Given the description of an element on the screen output the (x, y) to click on. 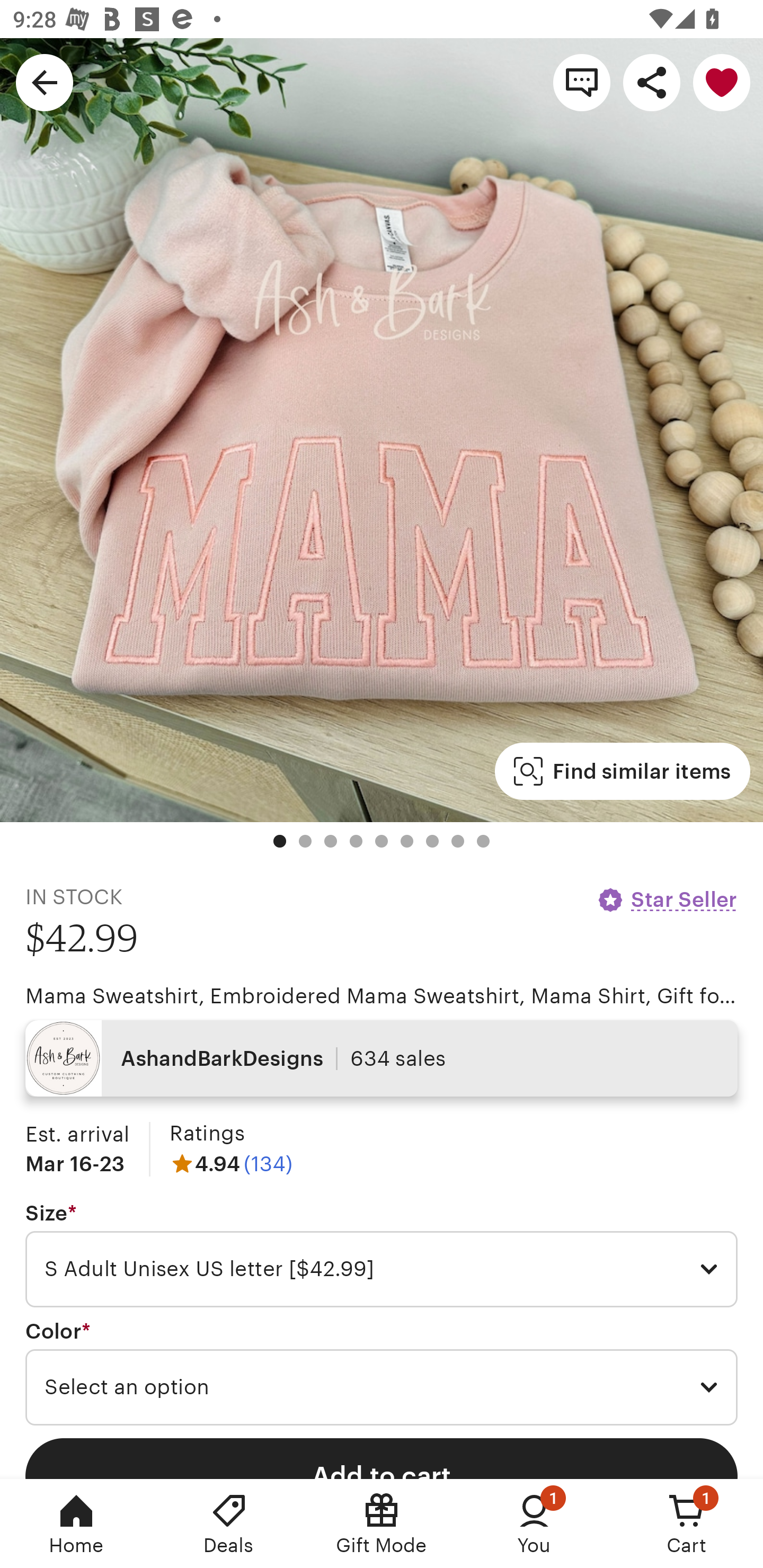
Navigate up (44, 81)
Contact shop (581, 81)
Share (651, 81)
Find similar items (622, 771)
Star Seller (666, 899)
AshandBarkDesigns 634 sales (381, 1058)
Ratings (206, 1133)
4.94 (134) (230, 1163)
Size * Required S Adult Unisex US letter [$42.99] (381, 1254)
S Adult Unisex US letter [$42.99] (381, 1268)
Color * Required Select an option (381, 1372)
Select an option (381, 1386)
Deals (228, 1523)
Gift Mode (381, 1523)
You, 1 new notification You (533, 1523)
Cart, 1 new notification Cart (686, 1523)
